Given the description of an element on the screen output the (x, y) to click on. 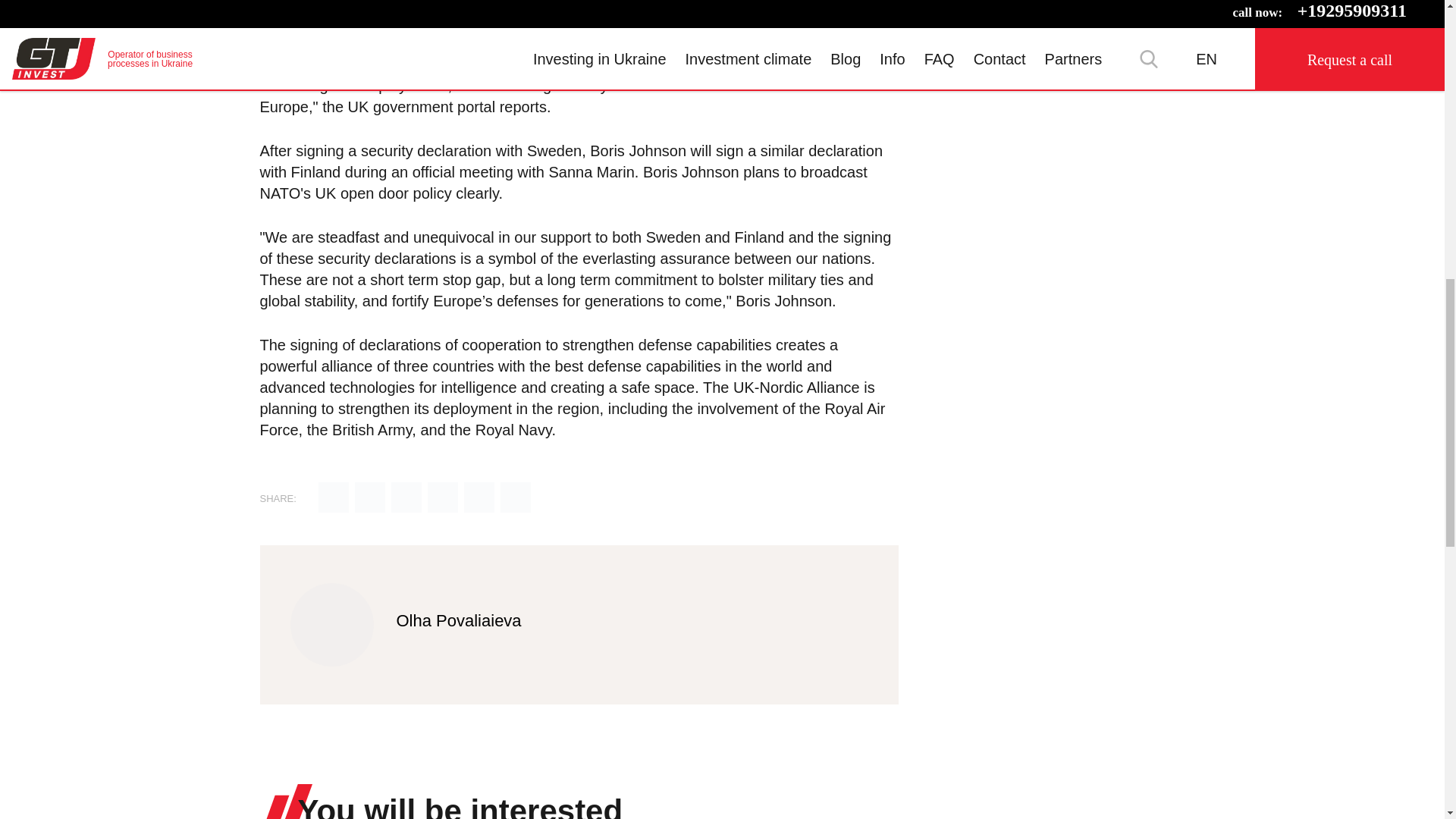
Twitter (370, 498)
Facebook (406, 498)
WhatsApp (515, 498)
Telegram (443, 498)
Viber (479, 498)
Email (333, 498)
